Given the description of an element on the screen output the (x, y) to click on. 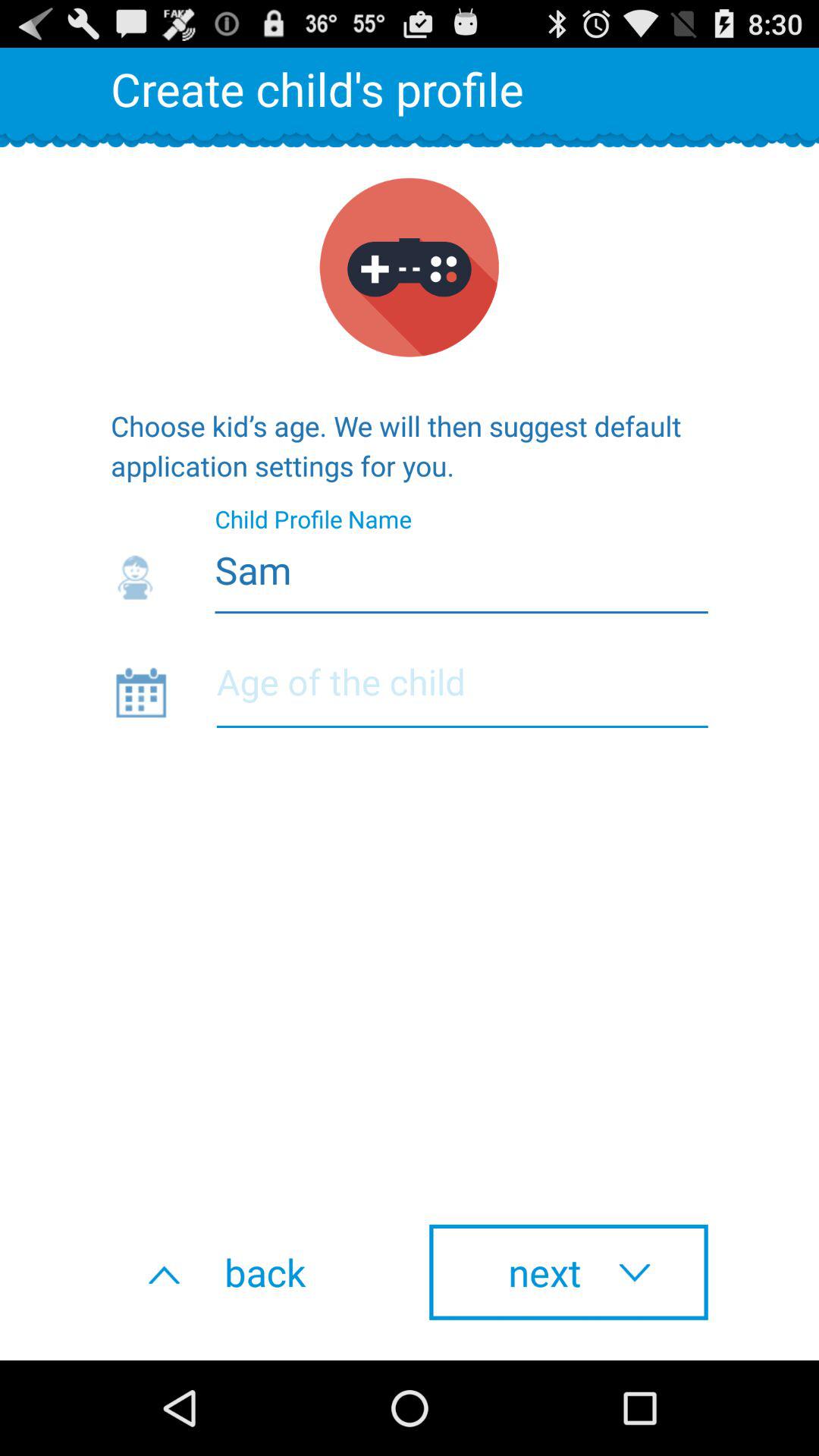
scroll to the next (568, 1272)
